Given the description of an element on the screen output the (x, y) to click on. 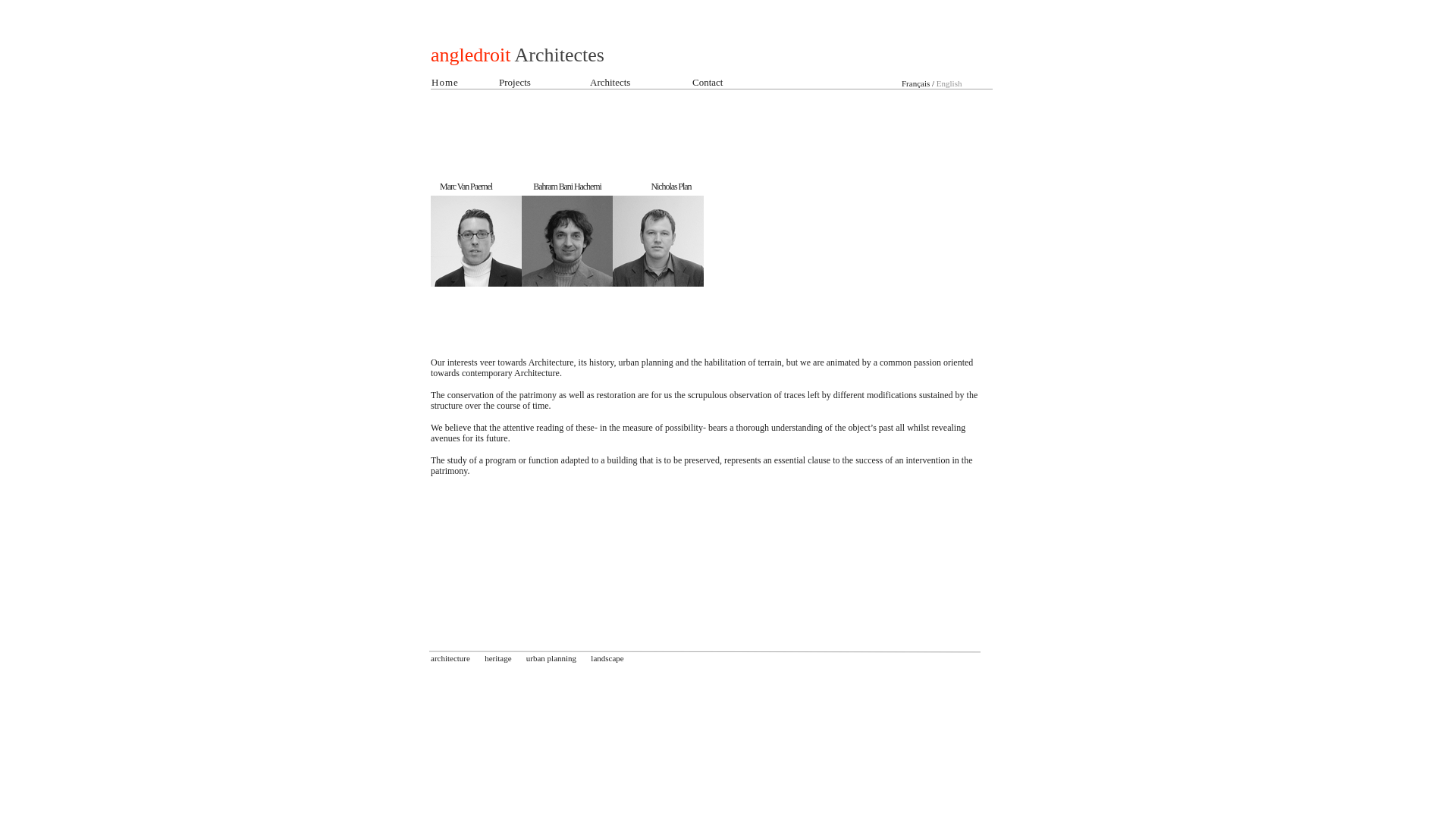
Architects Element type: text (609, 81)
Projects Element type: text (514, 81)
Contact Element type: text (707, 81)
